Given the description of an element on the screen output the (x, y) to click on. 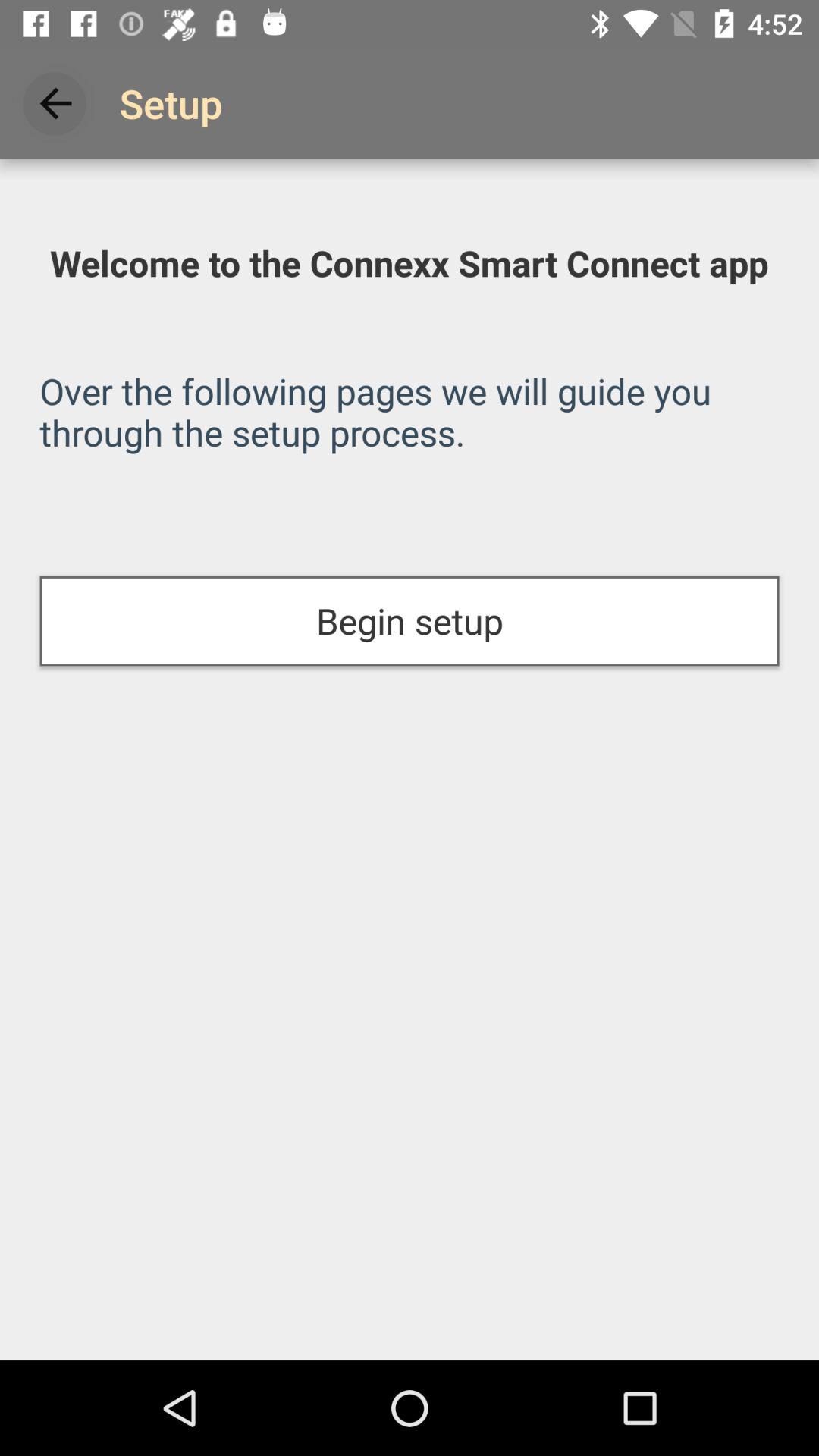
tap item next to the setup (55, 103)
